Given the description of an element on the screen output the (x, y) to click on. 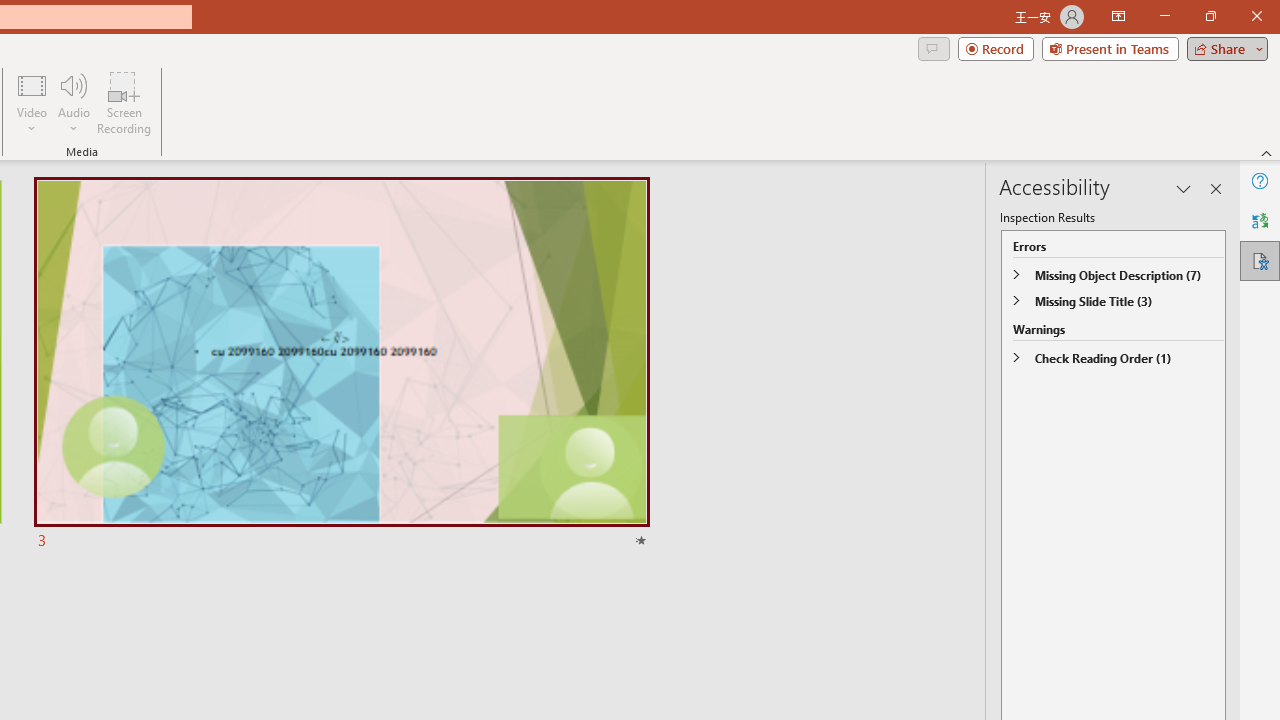
Video (31, 102)
